Given the description of an element on the screen output the (x, y) to click on. 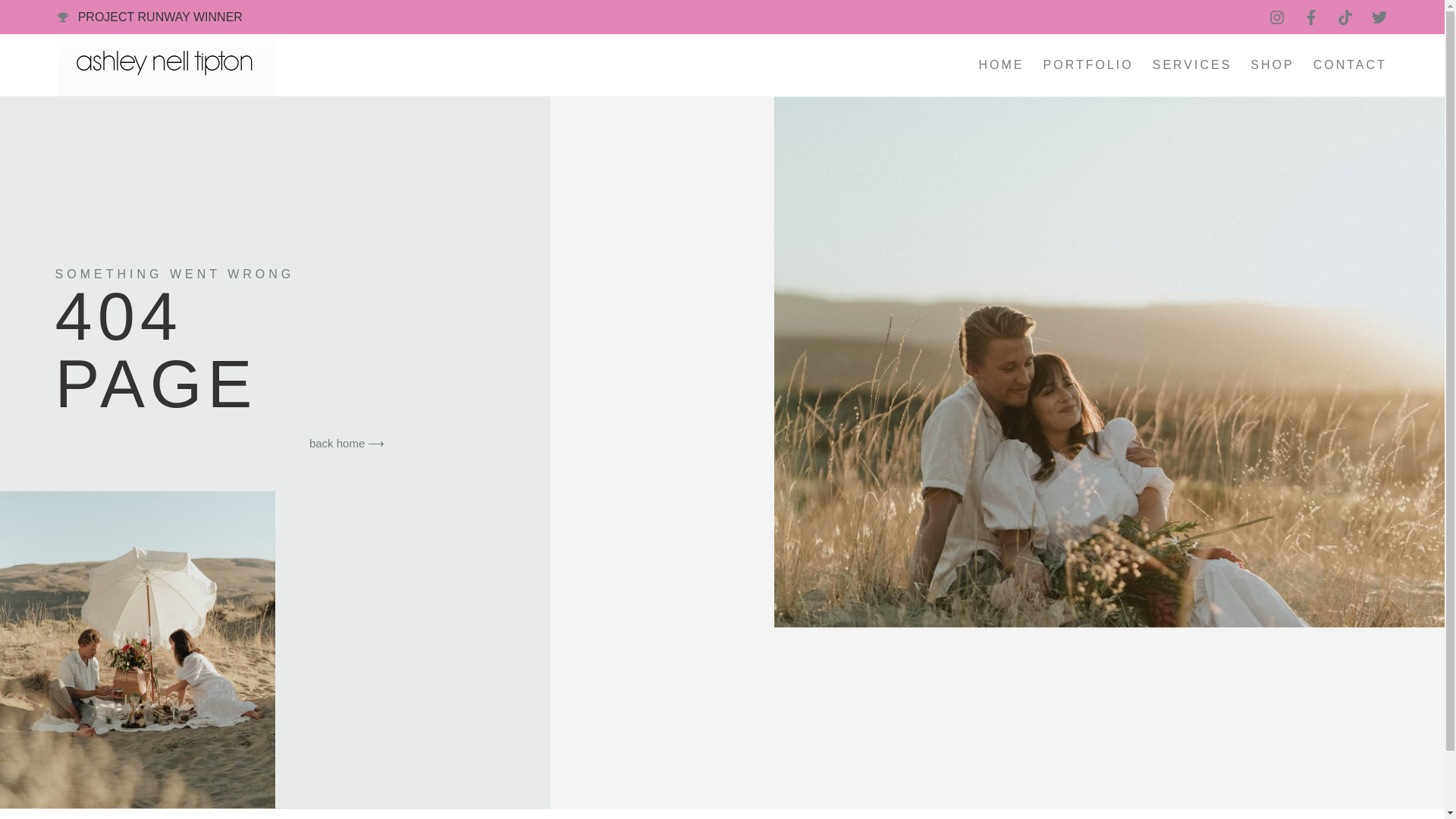
CONTACT (1350, 65)
SHOP (1272, 65)
PORTFOLIO (1088, 65)
SERVICES (1192, 65)
HOME (1001, 65)
